Given the description of an element on the screen output the (x, y) to click on. 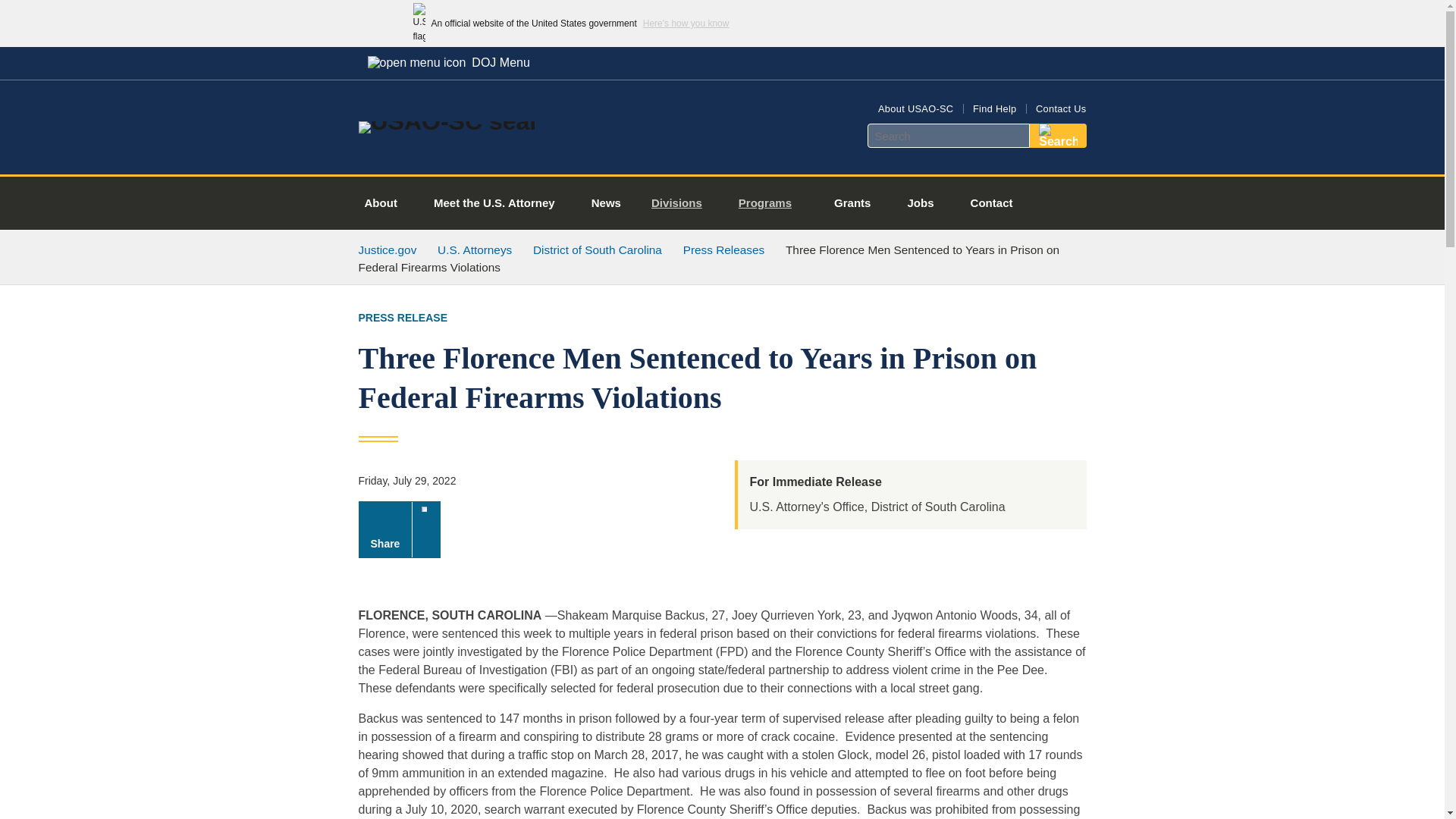
Contact (991, 203)
Contact Us (1060, 108)
About USAO-SC (915, 108)
Home (446, 121)
Grants (851, 203)
U.S. Attorneys (475, 249)
Here's how you know (686, 23)
Jobs (920, 203)
Justice.gov (387, 249)
About (380, 203)
